Given the description of an element on the screen output the (x, y) to click on. 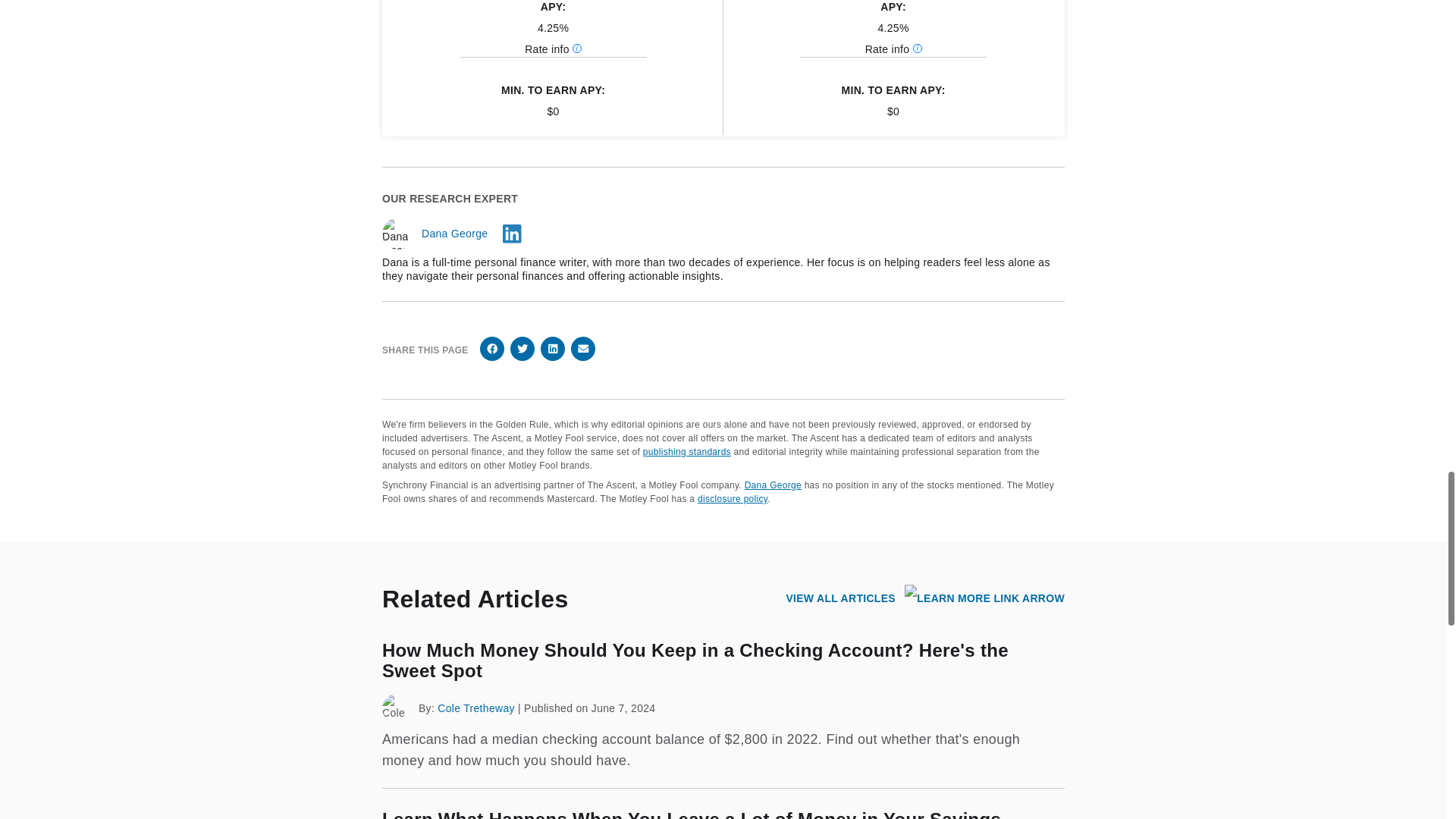
Circle with letter I in it. (576, 48)
Circle with letter I in it. (916, 48)
Blue Twitter Icon Share this website with Twitter (522, 348)
Email Icon Share this website with email (582, 348)
